Given the description of an element on the screen output the (x, y) to click on. 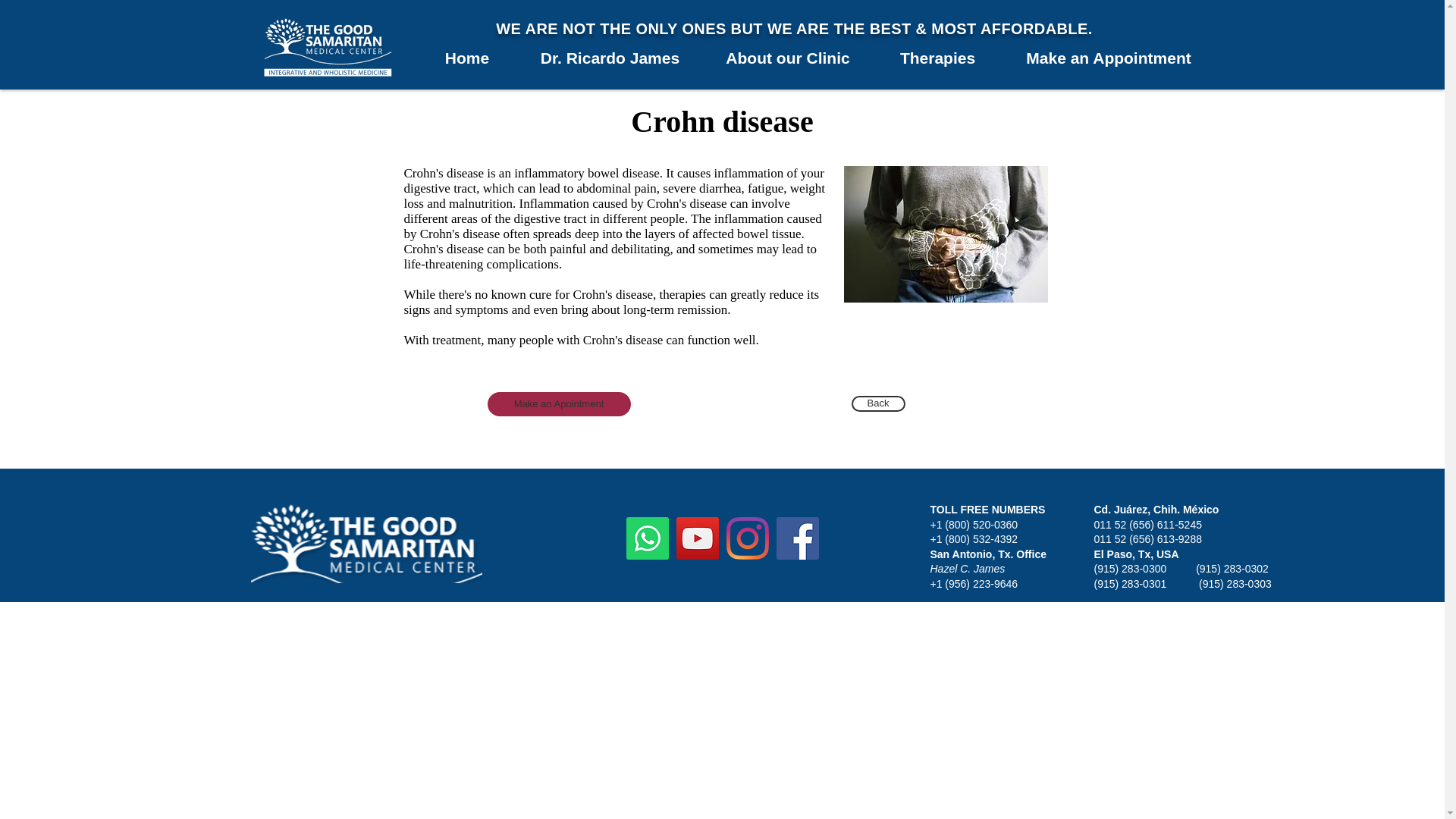
Home (467, 58)
Therapies (938, 58)
Dr. Ricardo James (608, 58)
About our Clinic (786, 58)
Back (877, 403)
Make an Apointment (558, 404)
Make an Appointment (1109, 58)
